Given the description of an element on the screen output the (x, y) to click on. 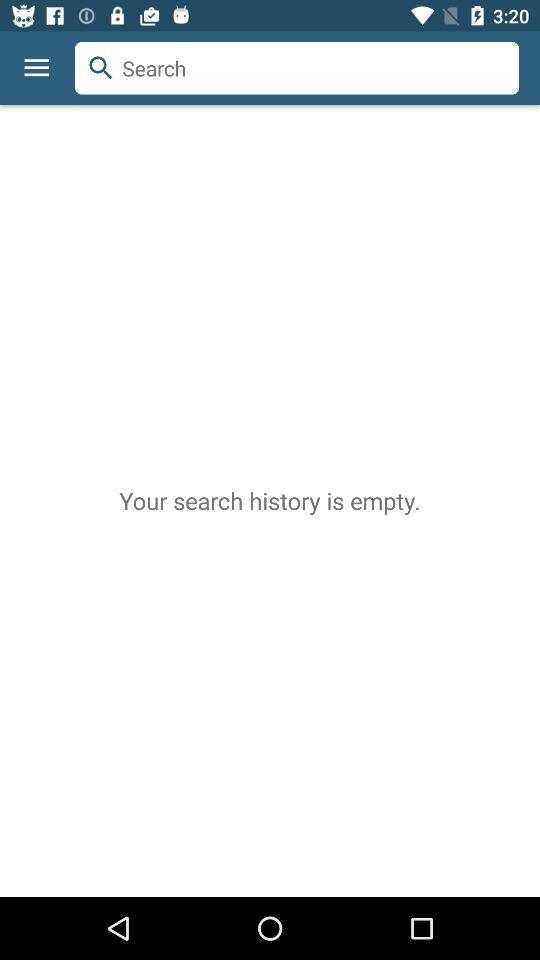
enter word s to search (297, 68)
